Given the description of an element on the screen output the (x, y) to click on. 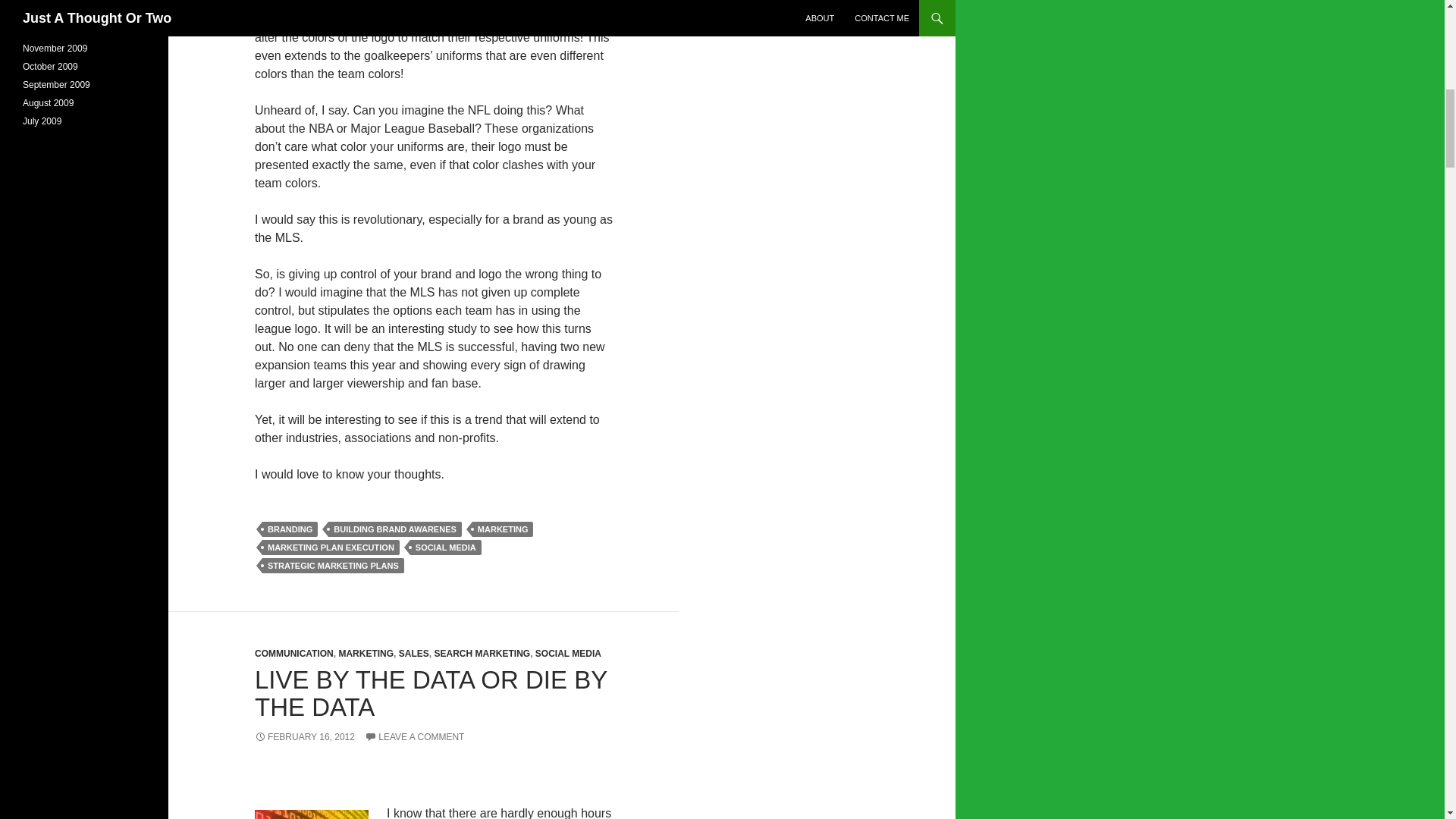
SOCIAL MEDIA (568, 653)
COMMUNICATION (293, 653)
BUILDING BRAND AWARENES (395, 529)
FEBRUARY 16, 2012 (304, 737)
MARKETING (502, 529)
SEARCH MARKETING (481, 653)
STRATEGIC MARKETING PLANS (333, 565)
LIVE BY THE DATA OR DIE BY THE DATA (430, 693)
LEAVE A COMMENT (414, 737)
BRANDING (289, 529)
